Given the description of an element on the screen output the (x, y) to click on. 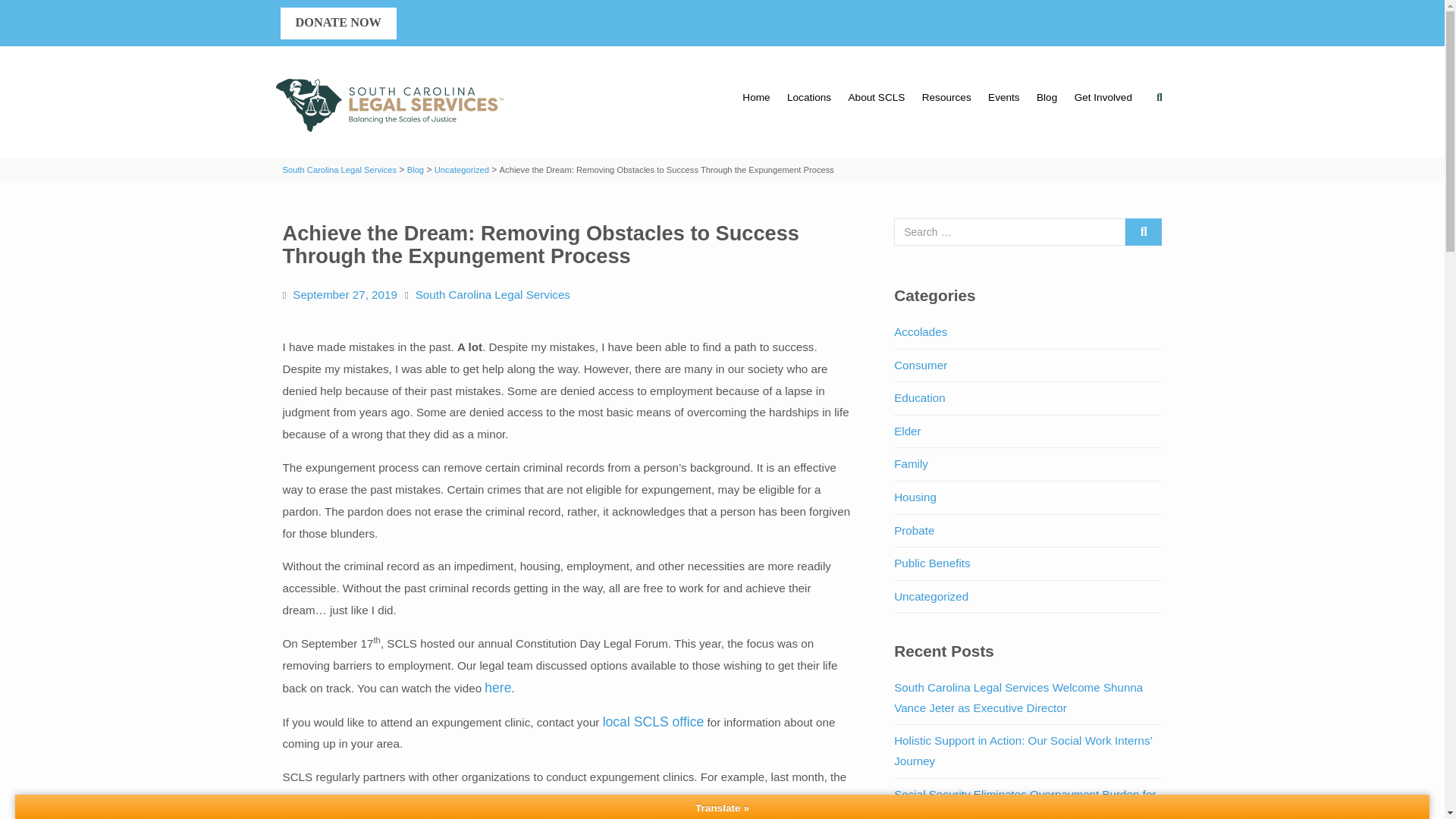
Get Involved (1102, 97)
DONATE NOW (338, 23)
Go to Blog. (415, 169)
Locations (809, 97)
South Carolina Legal Services (389, 105)
About SCLS (876, 97)
Resources (946, 97)
Go to South Carolina Legal Services. (339, 169)
Go to the Uncategorized Category archives. (461, 169)
